Given the description of an element on the screen output the (x, y) to click on. 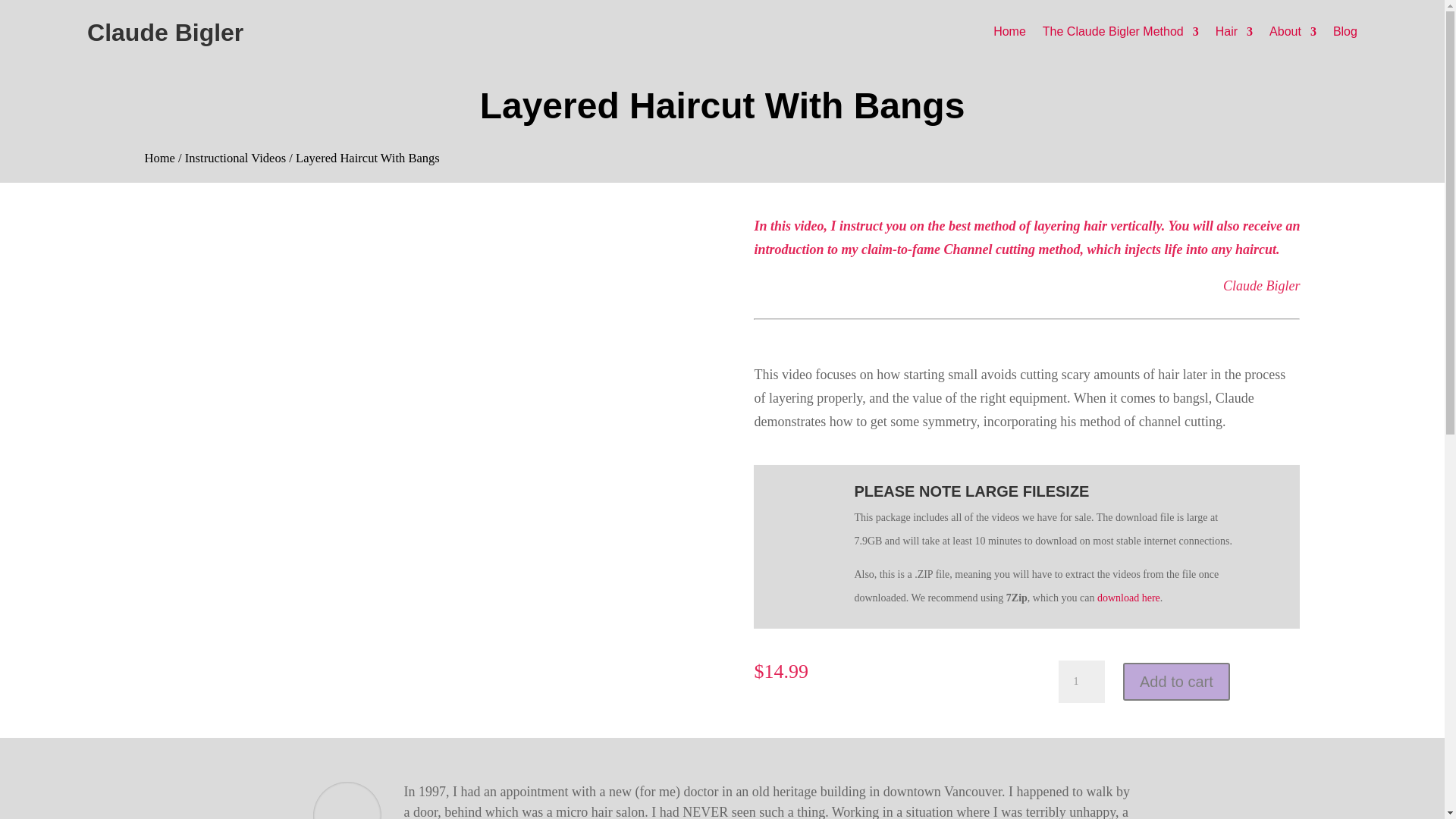
Home (1009, 34)
download here (1128, 597)
1 (1080, 681)
Home (159, 157)
Instructional Videos (234, 157)
The Claude Bigler Method (1120, 34)
Blog (1344, 34)
Add to cart (1176, 681)
About (1292, 34)
Hair (1233, 34)
